Given the description of an element on the screen output the (x, y) to click on. 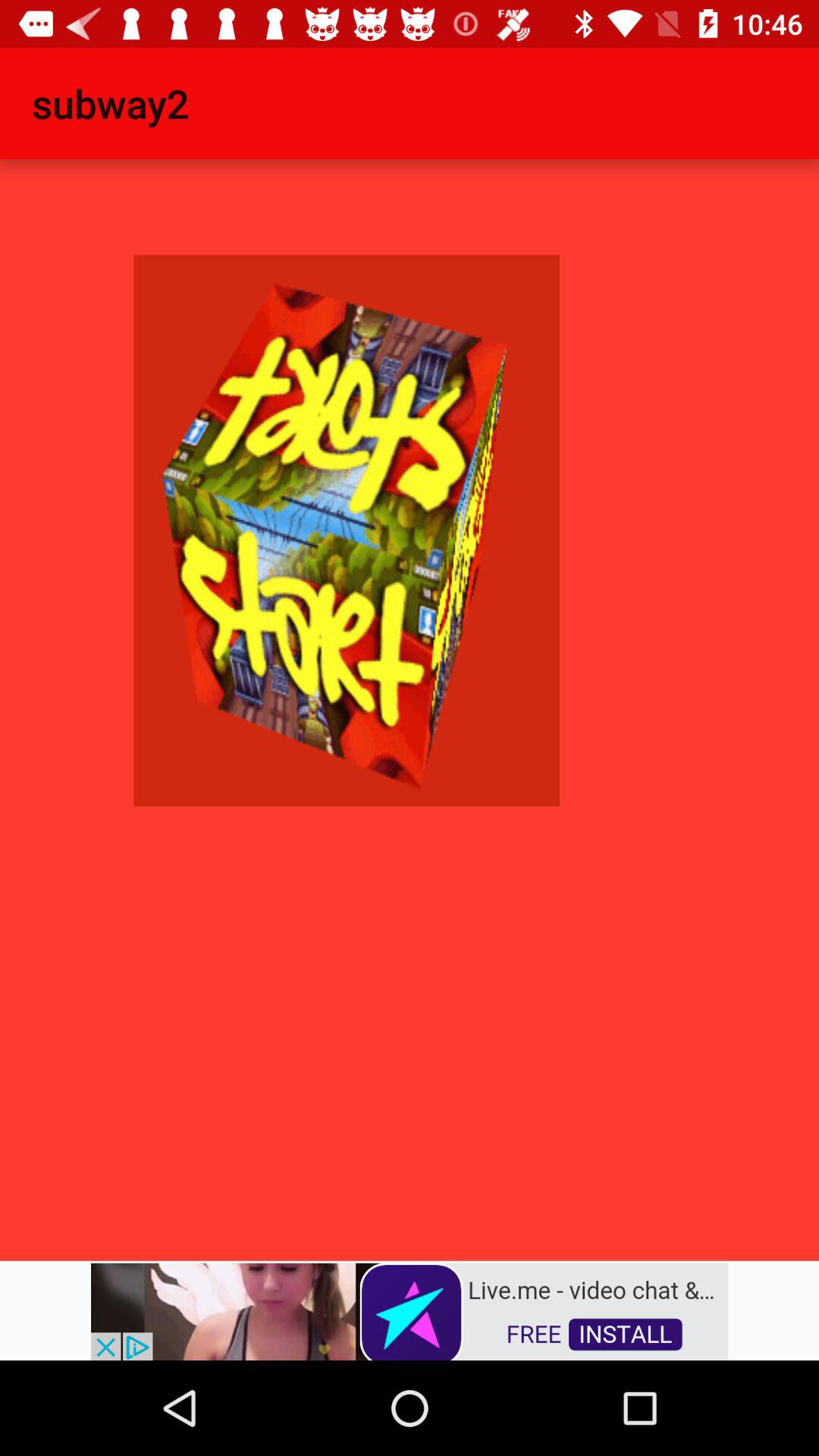
this is an advertisement (409, 1310)
